Given the description of an element on the screen output the (x, y) to click on. 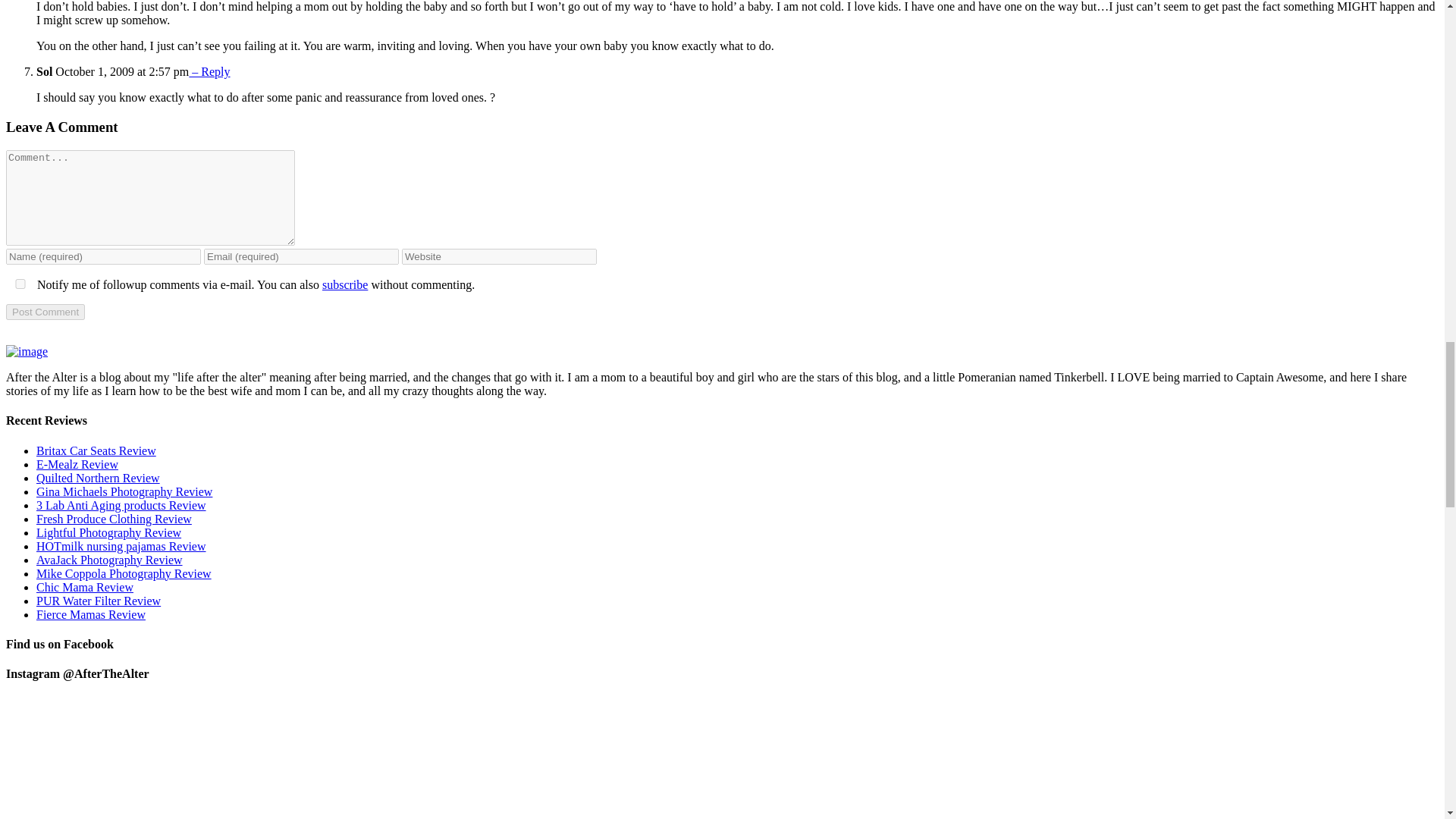
yes (20, 284)
Post Comment (44, 311)
image (26, 351)
